Given the description of an element on the screen output the (x, y) to click on. 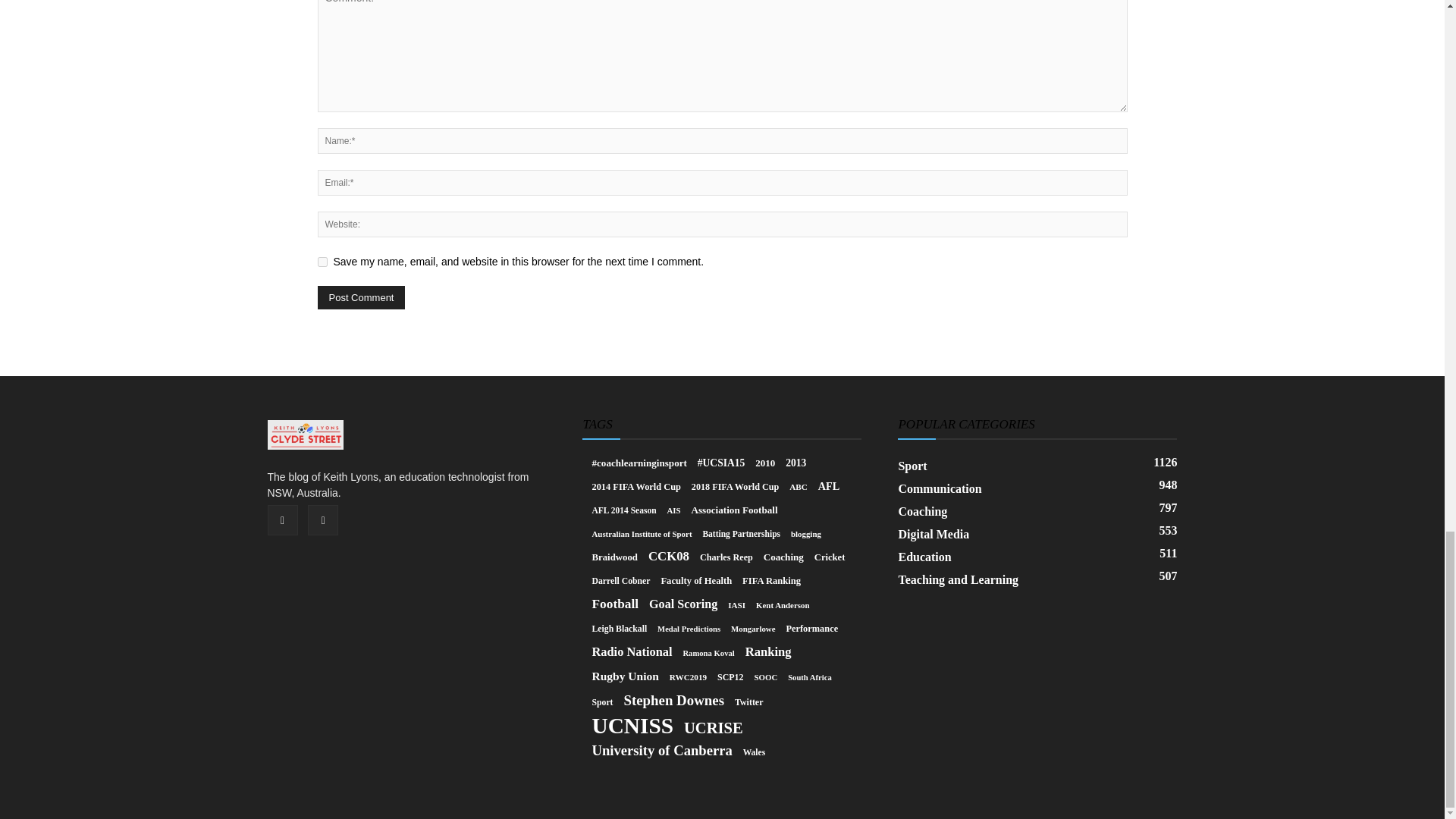
yes (321, 261)
Post Comment (360, 297)
